Given the description of an element on the screen output the (x, y) to click on. 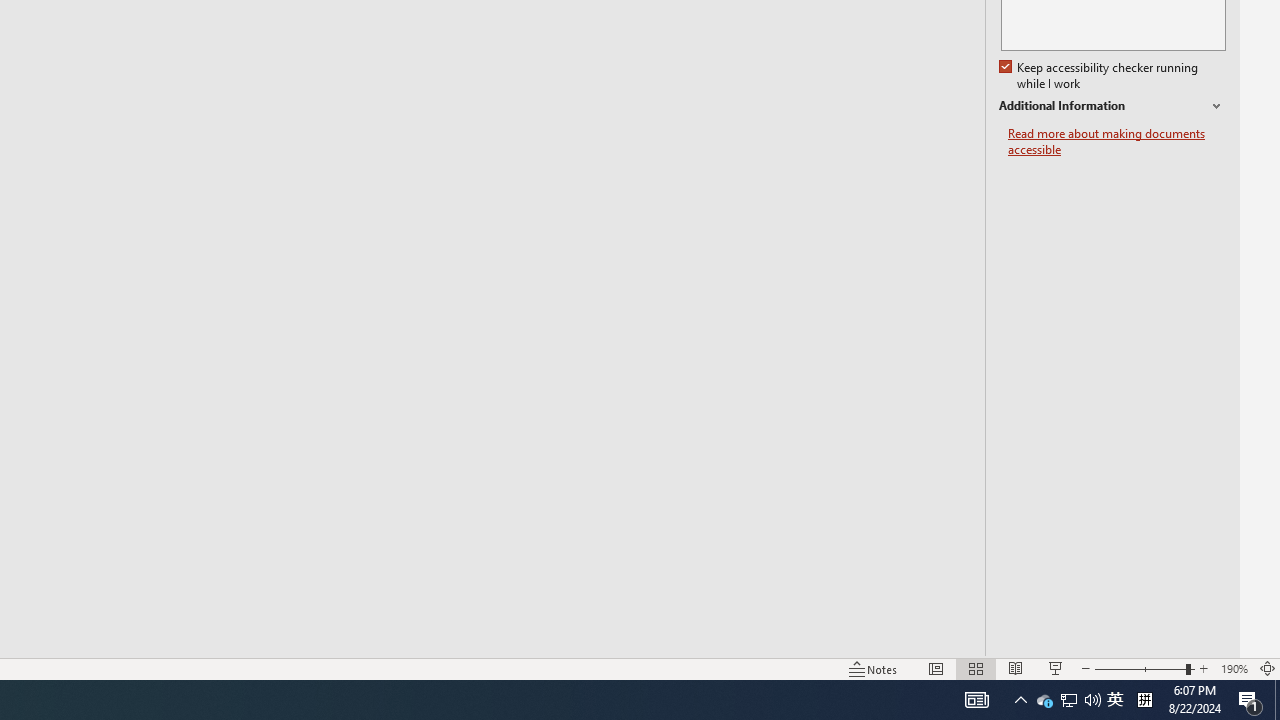
Zoom 190% (1234, 668)
